Given the description of an element on the screen output the (x, y) to click on. 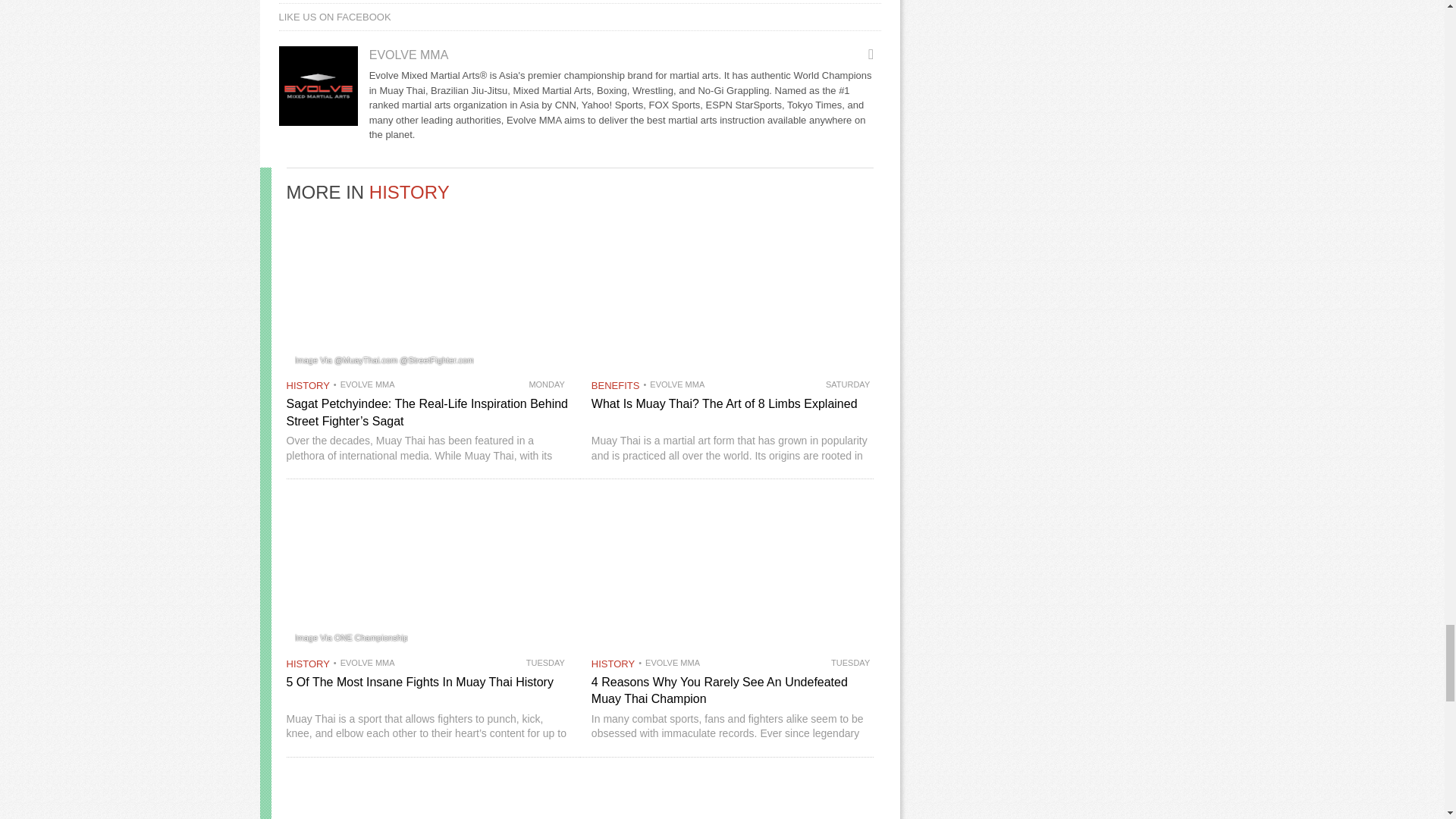
Benefits (615, 385)
History (308, 663)
History (409, 191)
History (612, 663)
History (308, 385)
